Given the description of an element on the screen output the (x, y) to click on. 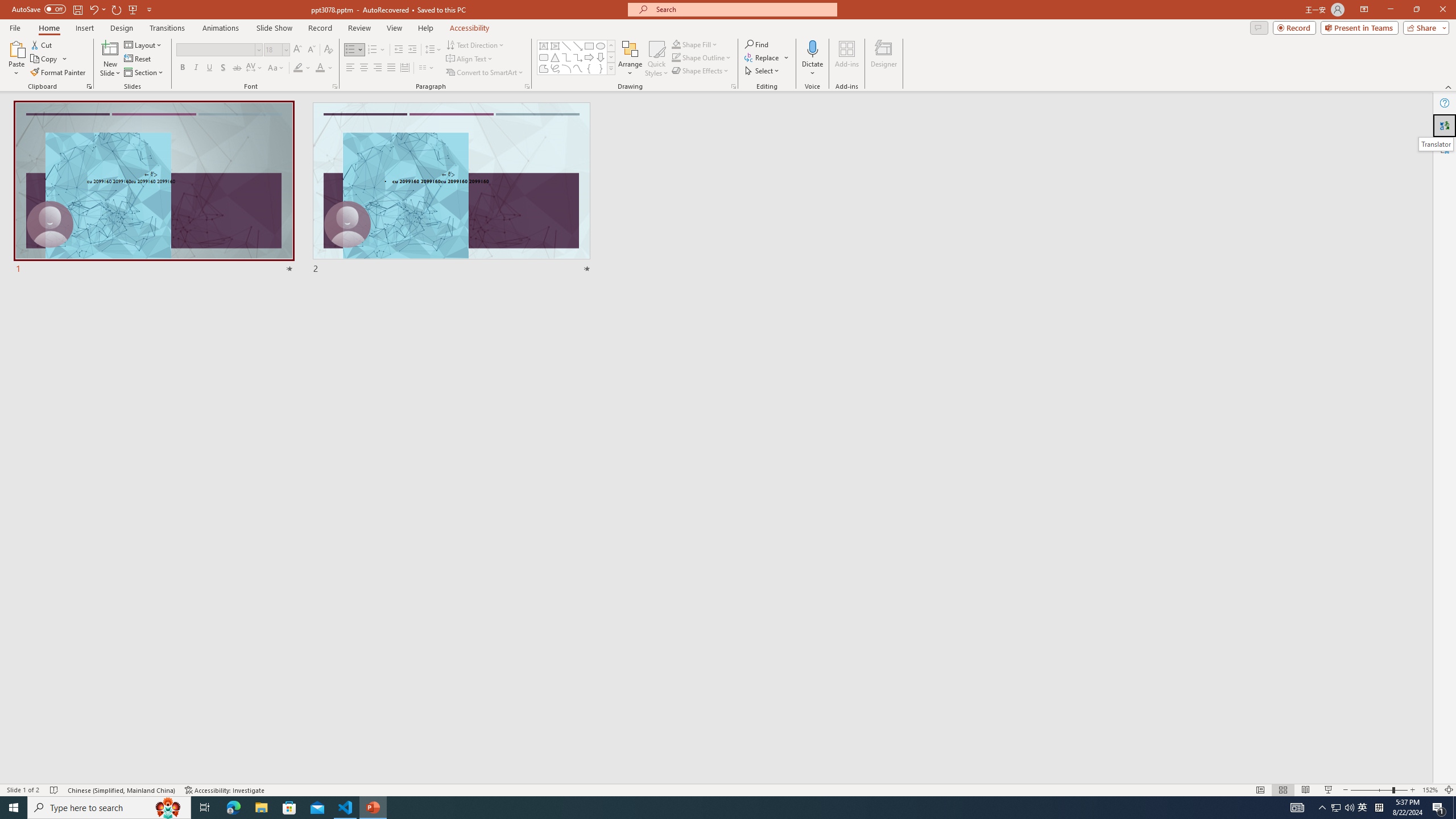
Rectangle: Rounded Corners (543, 57)
Office Clipboard... (88, 85)
From Beginning (133, 9)
Freeform: Scribble (554, 68)
New Slide (110, 48)
Insert (83, 28)
Increase Font Size (297, 49)
Review (359, 28)
Layout (143, 44)
Close (1442, 9)
Present in Teams (1359, 27)
Arc (566, 68)
Convert to SmartArt (485, 72)
Reading View (1305, 790)
Rectangle (589, 45)
